Given the description of an element on the screen output the (x, y) to click on. 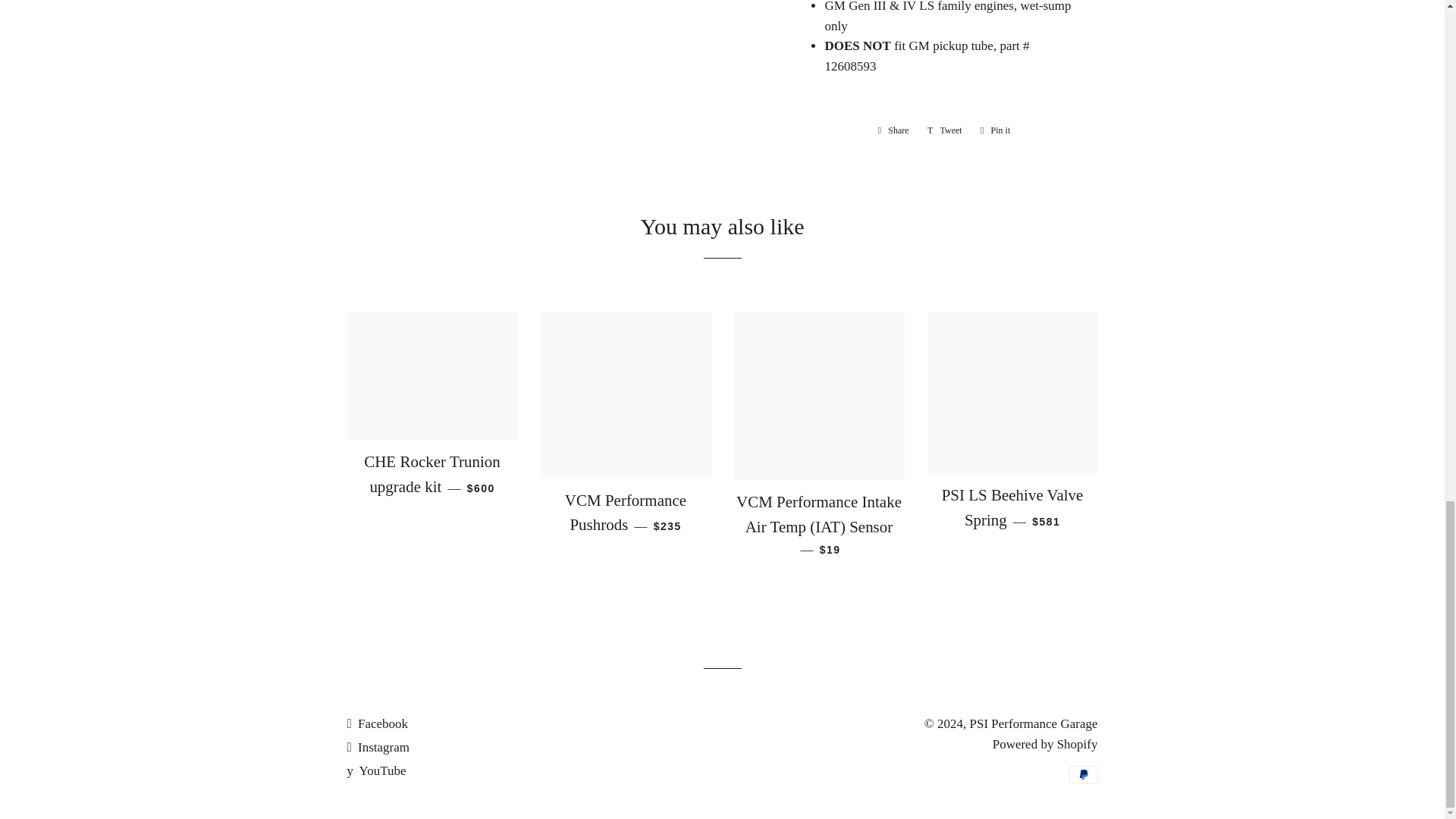
Pin on Pinterest (994, 130)
Tweet on Twitter (944, 130)
PSI Performance Garage on Instagram (378, 747)
PSI Performance Garage on Facebook (378, 723)
PSI Performance Garage on YouTube (376, 770)
Share on Facebook (893, 130)
PayPal (1082, 774)
